Given the description of an element on the screen output the (x, y) to click on. 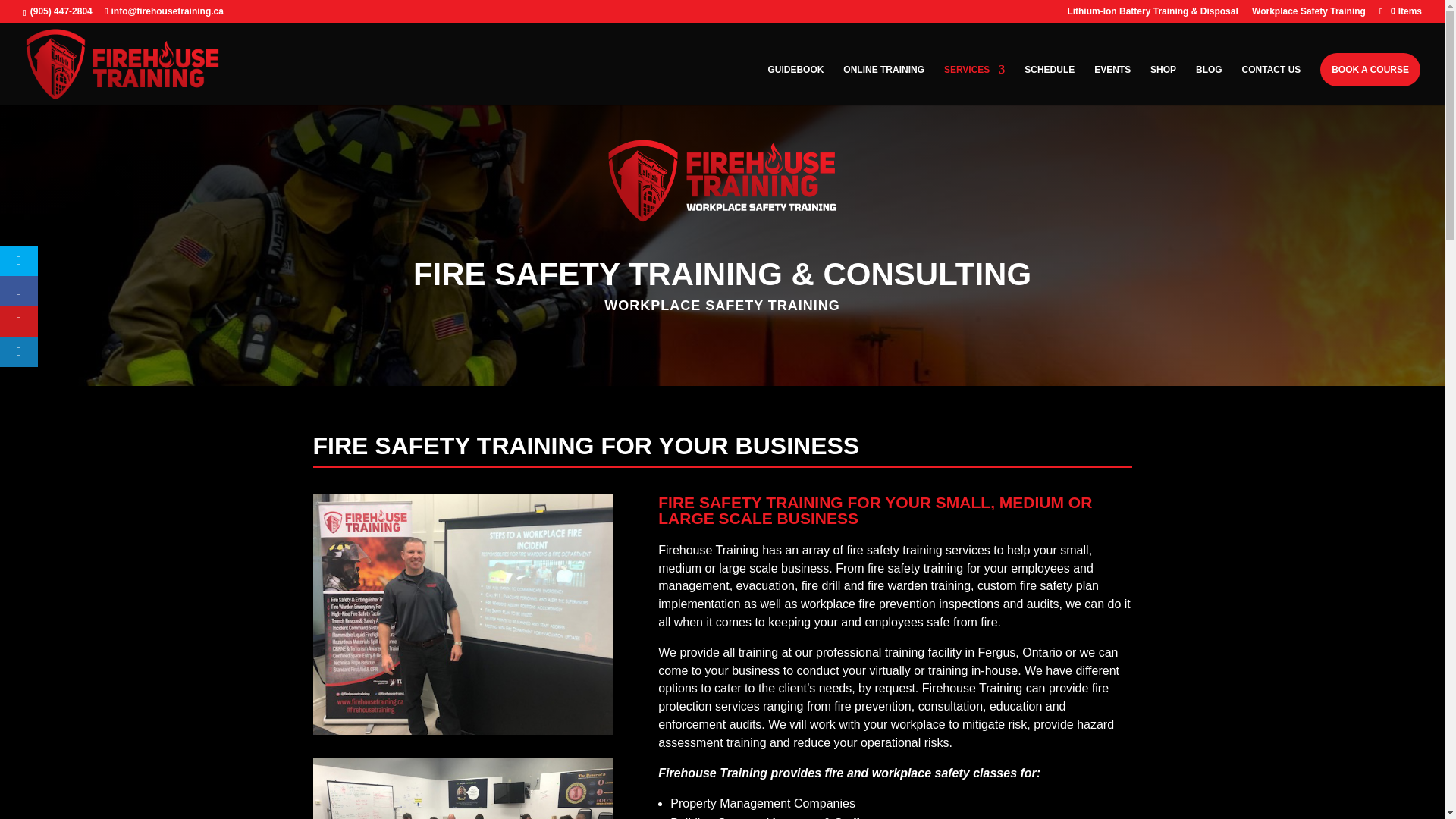
GUIDEBOOK (795, 84)
SERVICES (973, 84)
Workplace Safety Training (1308, 14)
SCHEDULE (1049, 84)
CONTACT US (1271, 84)
BOOK A COURSE (1370, 69)
EVENTS (1112, 84)
ONLINE TRAINING (883, 84)
0 Items (1399, 10)
